Given the description of an element on the screen output the (x, y) to click on. 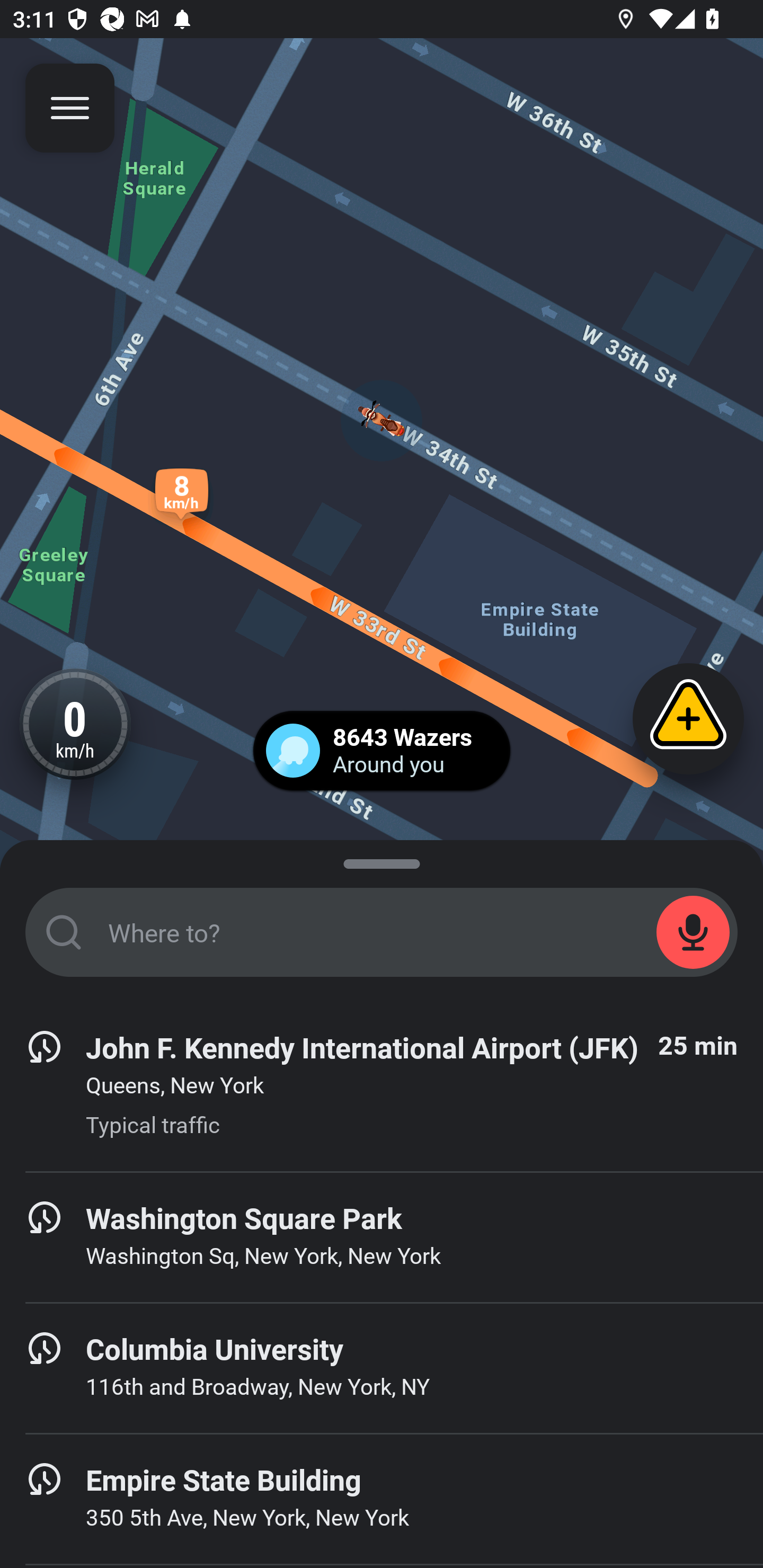
SUGGESTIONS_SHEET_DRAG_HANDLE (381, 860)
START_STATE_SEARCH_FIELD Where to? (381, 931)
